Given the description of an element on the screen output the (x, y) to click on. 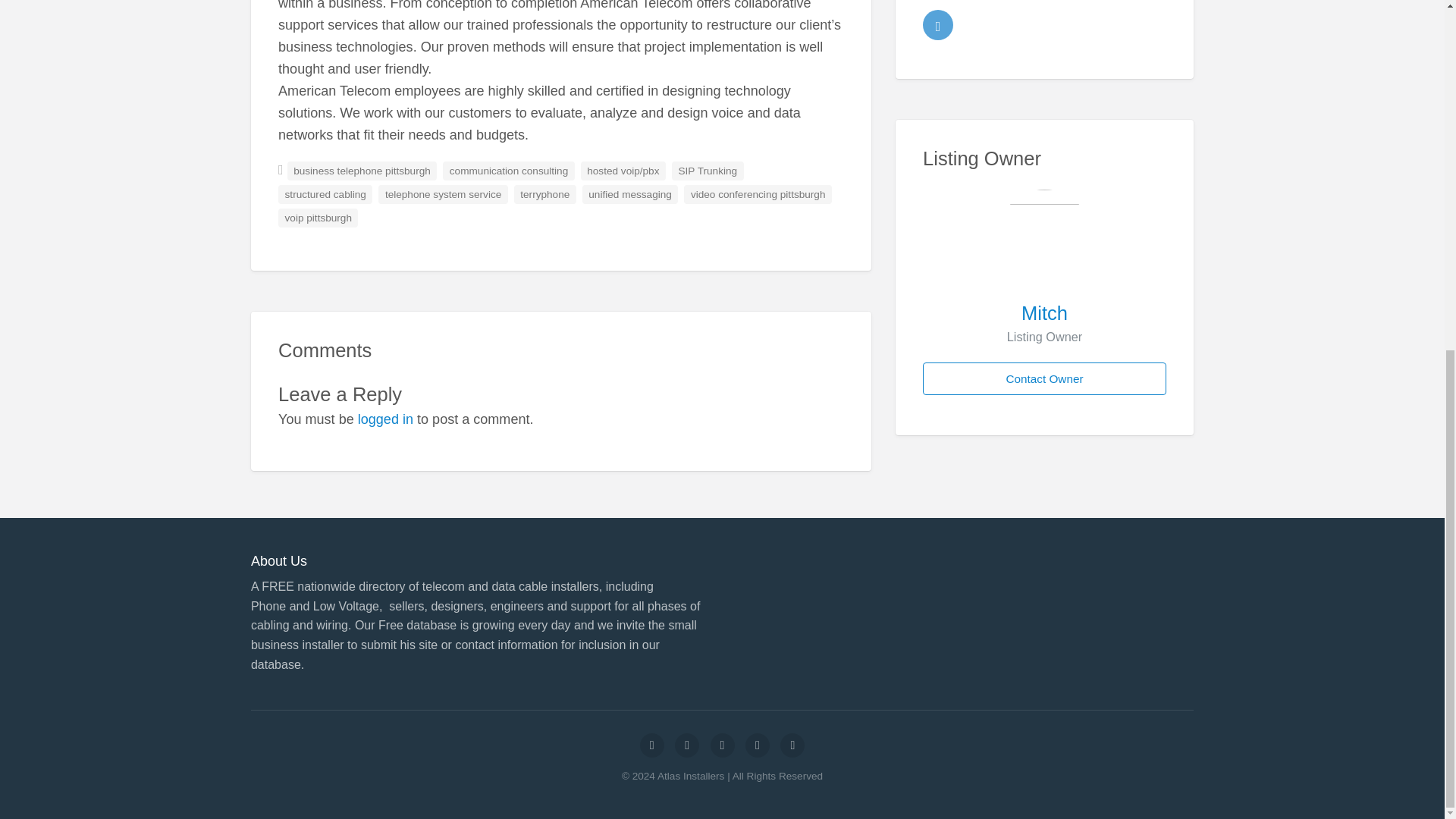
Twitter (938, 24)
